Given the description of an element on the screen output the (x, y) to click on. 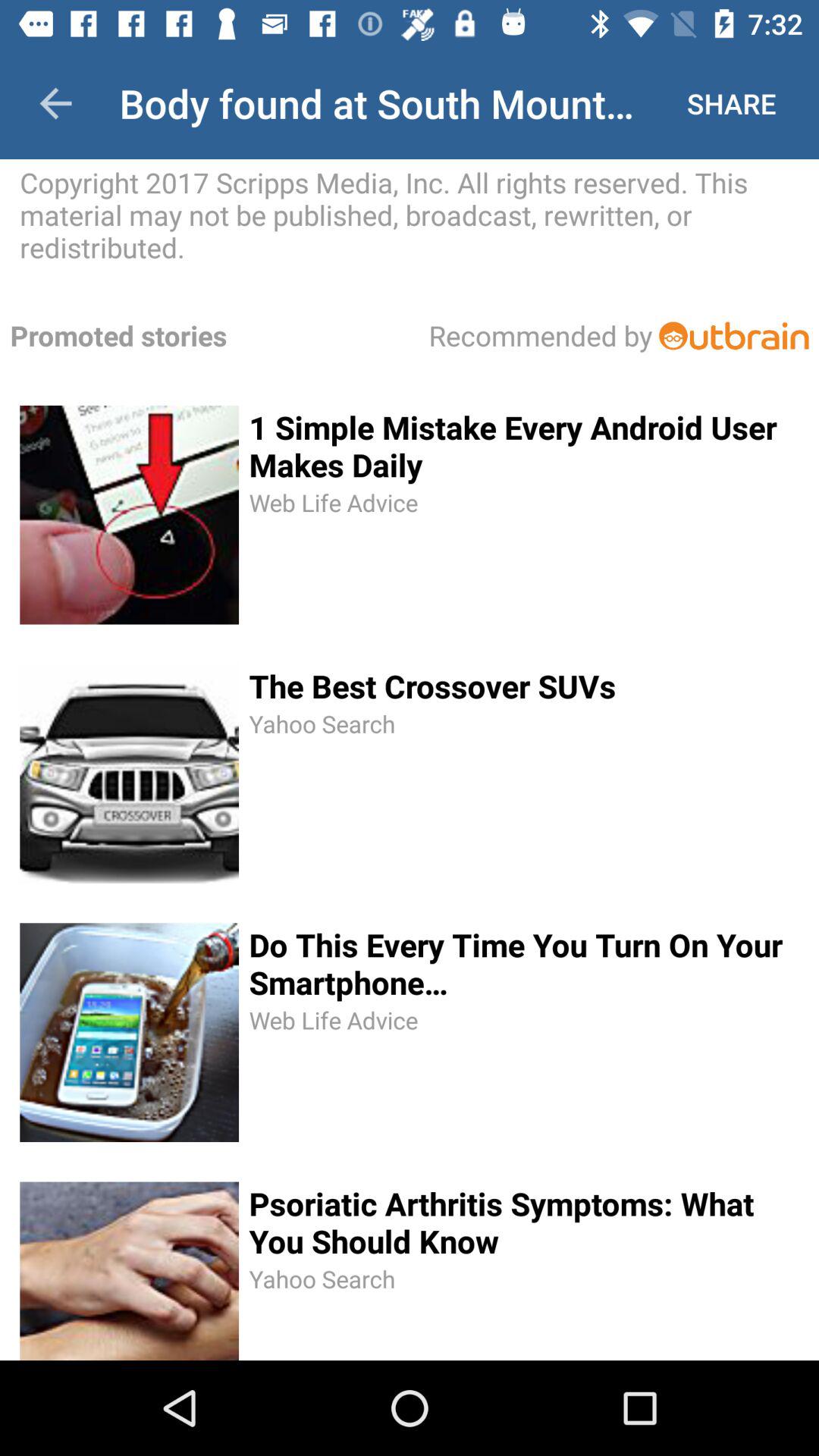
press the icon to the right of body found at icon (731, 103)
